Given the description of an element on the screen output the (x, y) to click on. 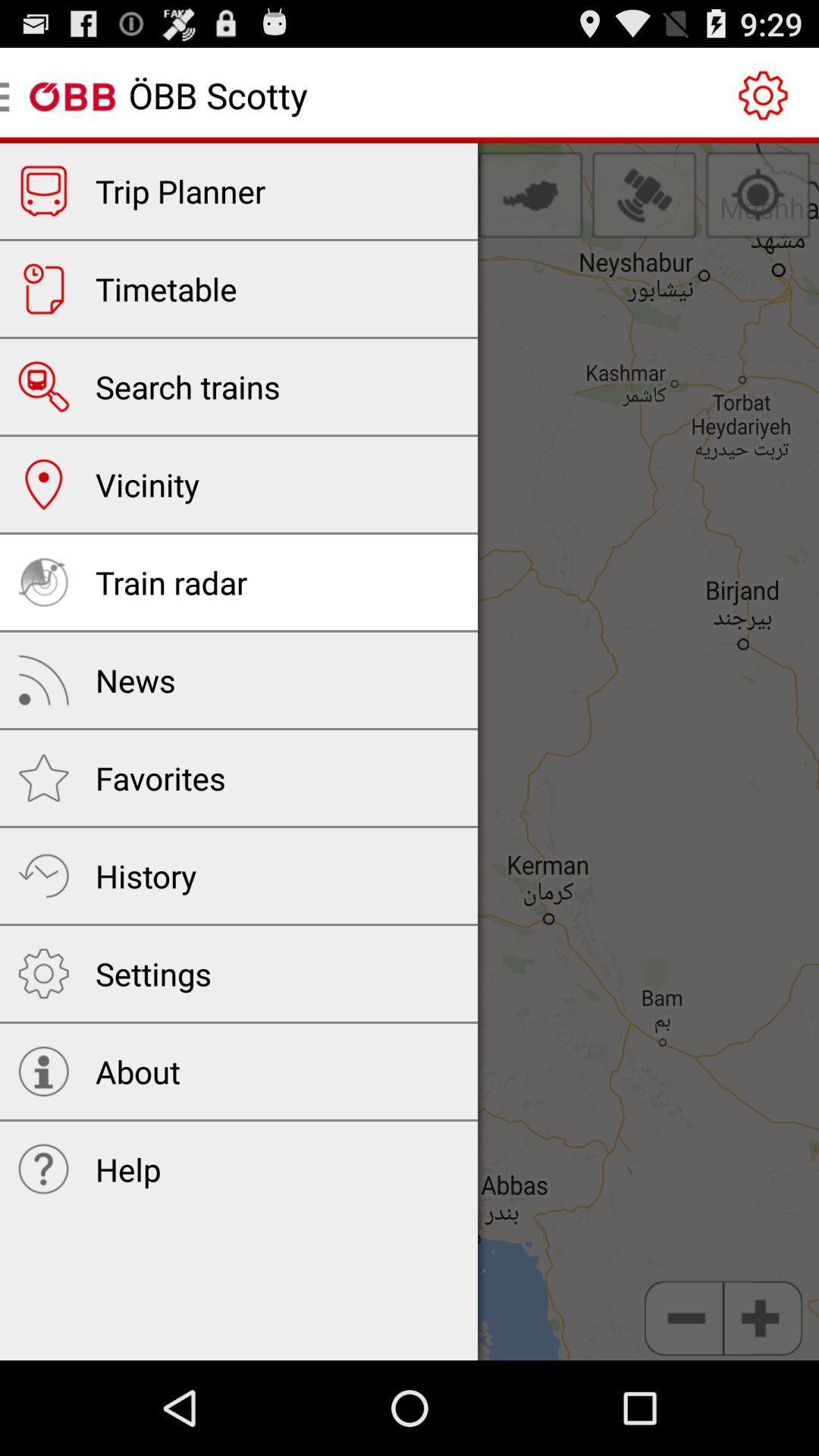
open history icon (145, 875)
